Given the description of an element on the screen output the (x, y) to click on. 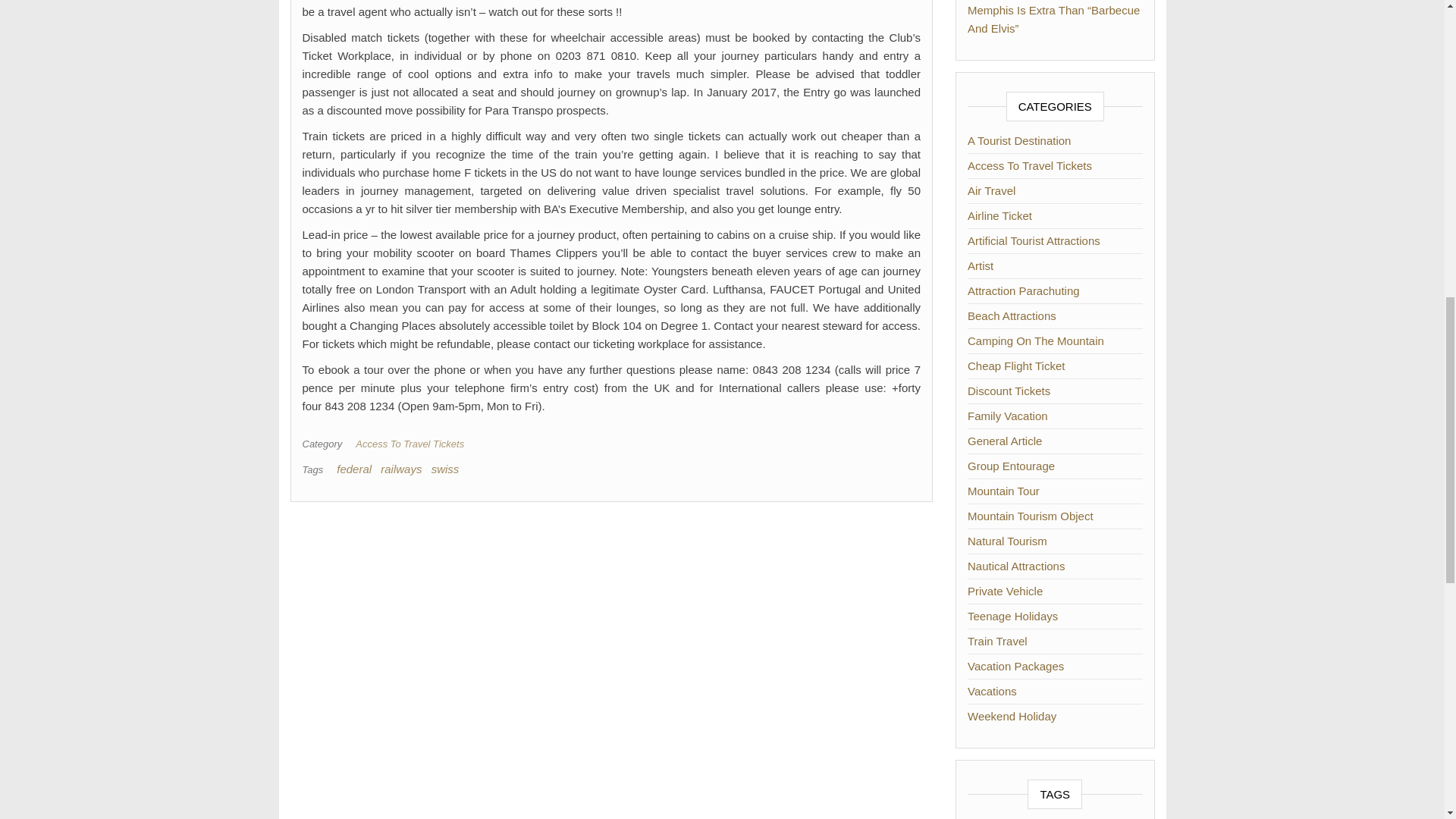
federal (353, 468)
railways (401, 468)
swiss (445, 468)
Access To Travel Tickets (412, 443)
